Given the description of an element on the screen output the (x, y) to click on. 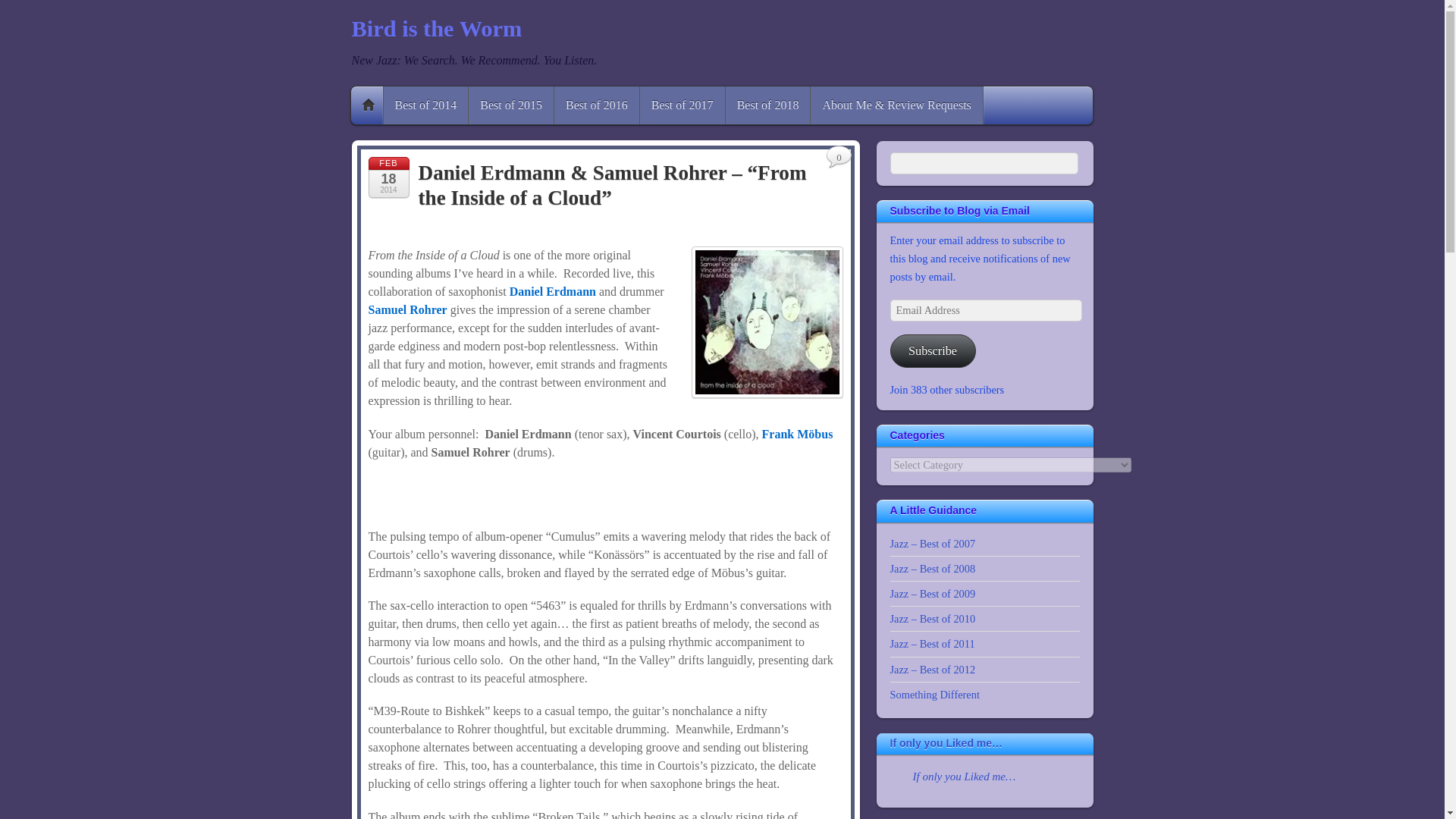
link to artist site (407, 309)
0 (838, 158)
Bird is the Worm (437, 28)
link to artist site (796, 433)
link to artist site (552, 291)
Samuel Rohrer (407, 309)
Best of 2015 (510, 105)
Daniel Erdmann (552, 291)
Best of 2018 (767, 105)
Best of 2014 (426, 105)
